Given the description of an element on the screen output the (x, y) to click on. 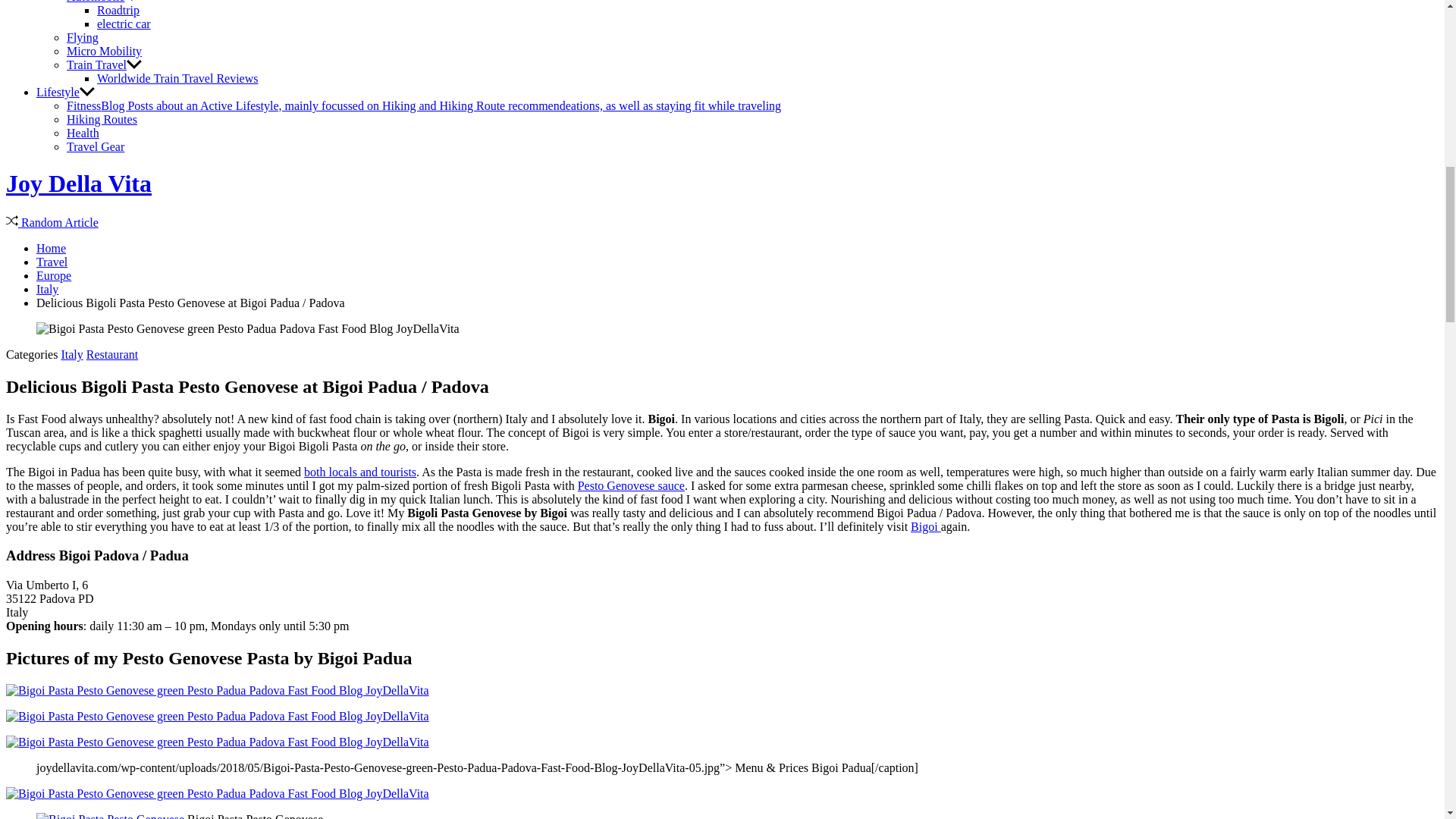
Random Article (52, 222)
